Given the description of an element on the screen output the (x, y) to click on. 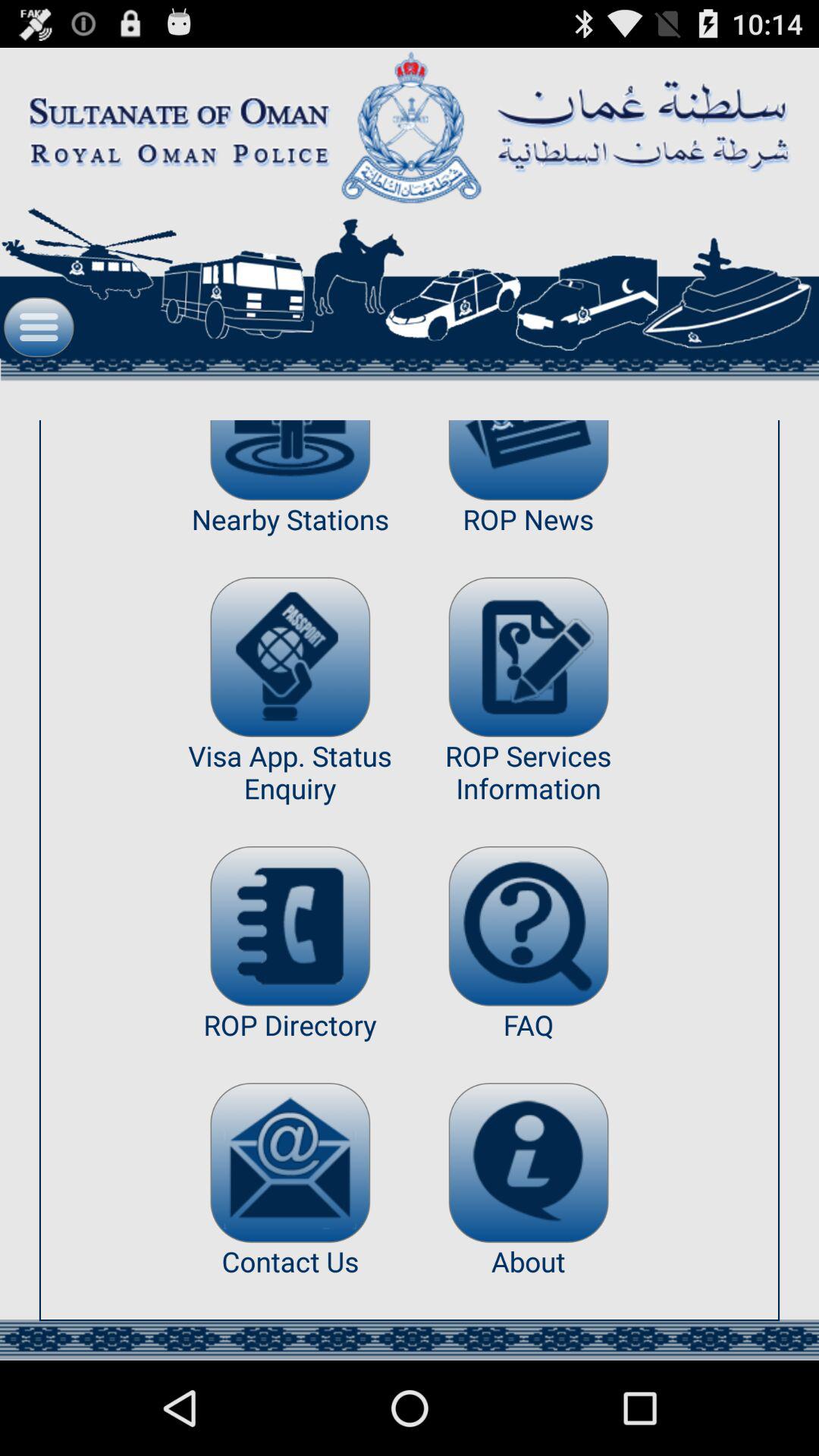
click the app below the rop services information (528, 926)
